Given the description of an element on the screen output the (x, y) to click on. 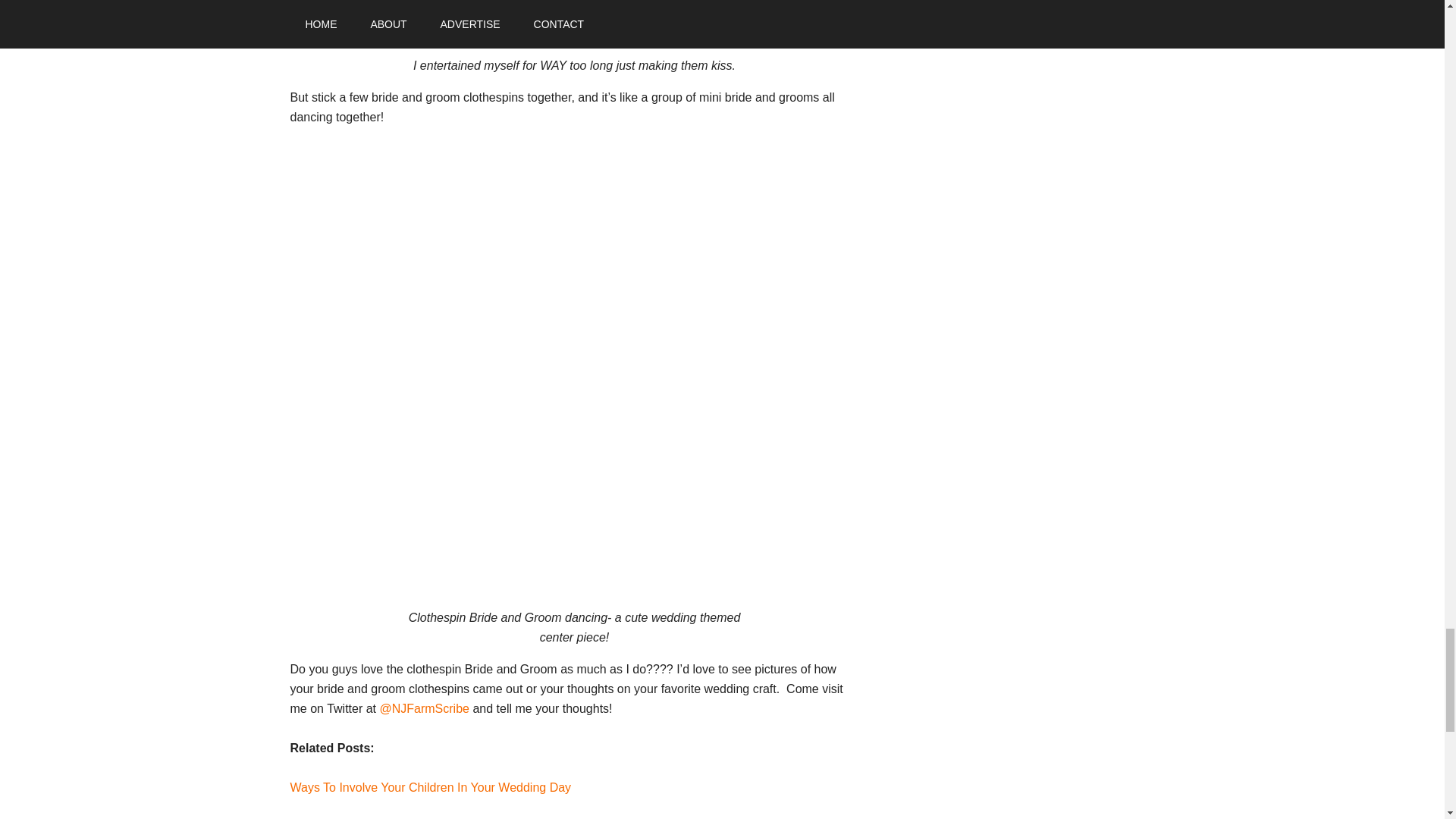
Ways To Involve Your Children In Your Wedding Day (429, 787)
